Given the description of an element on the screen output the (x, y) to click on. 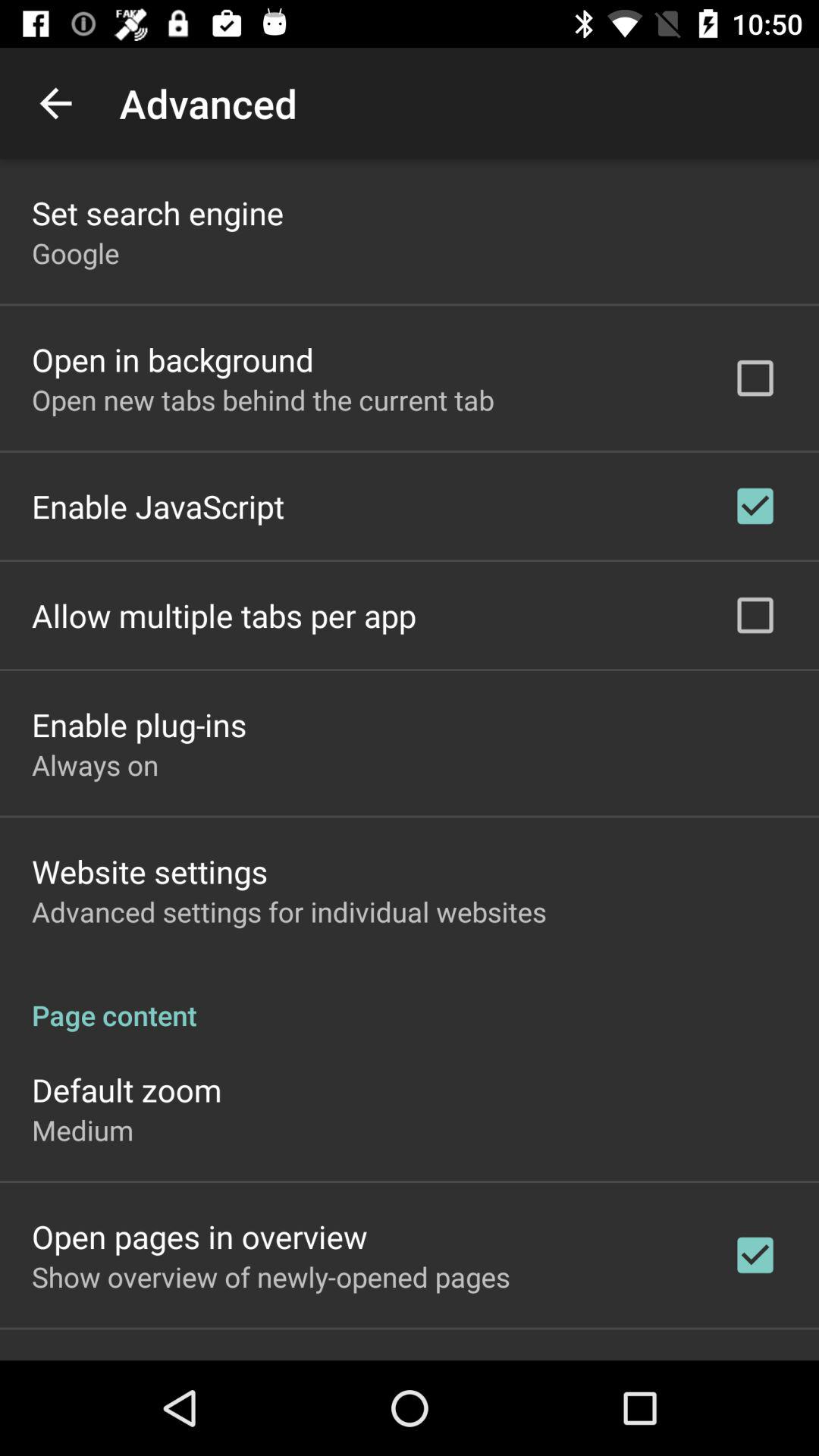
swipe until the page content (409, 998)
